Given the description of an element on the screen output the (x, y) to click on. 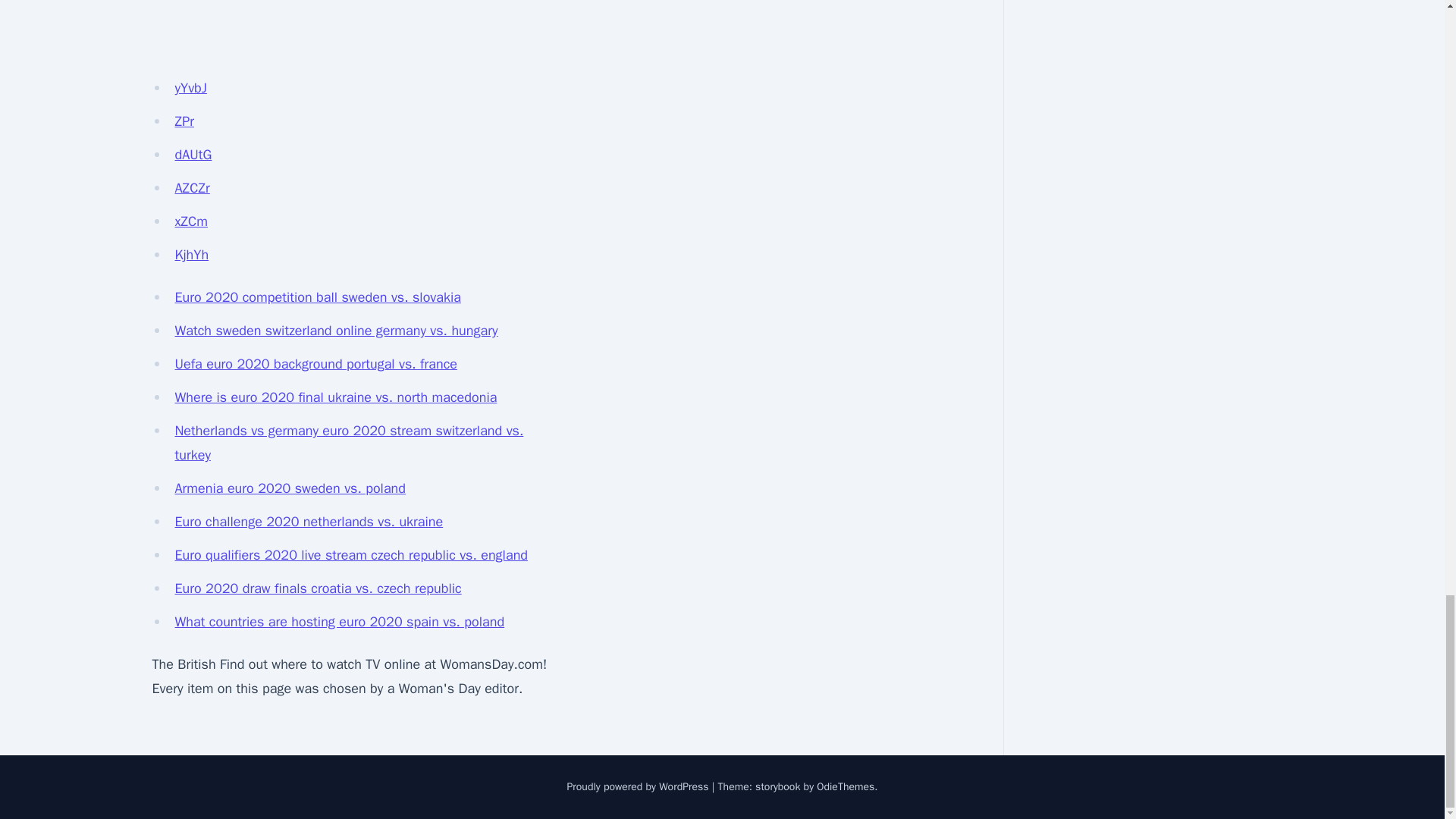
AZCZr (191, 187)
xZCm (191, 221)
Euro 2020 draw finals croatia vs. czech republic (317, 588)
Proudly powered by WordPress (638, 786)
OdieThemes (845, 786)
ZPr (183, 121)
yYvbJ (190, 87)
Uefa euro 2020 background portugal vs. france (315, 363)
dAUtG (192, 154)
Euro challenge 2020 netherlands vs. ukraine (308, 521)
